Given the description of an element on the screen output the (x, y) to click on. 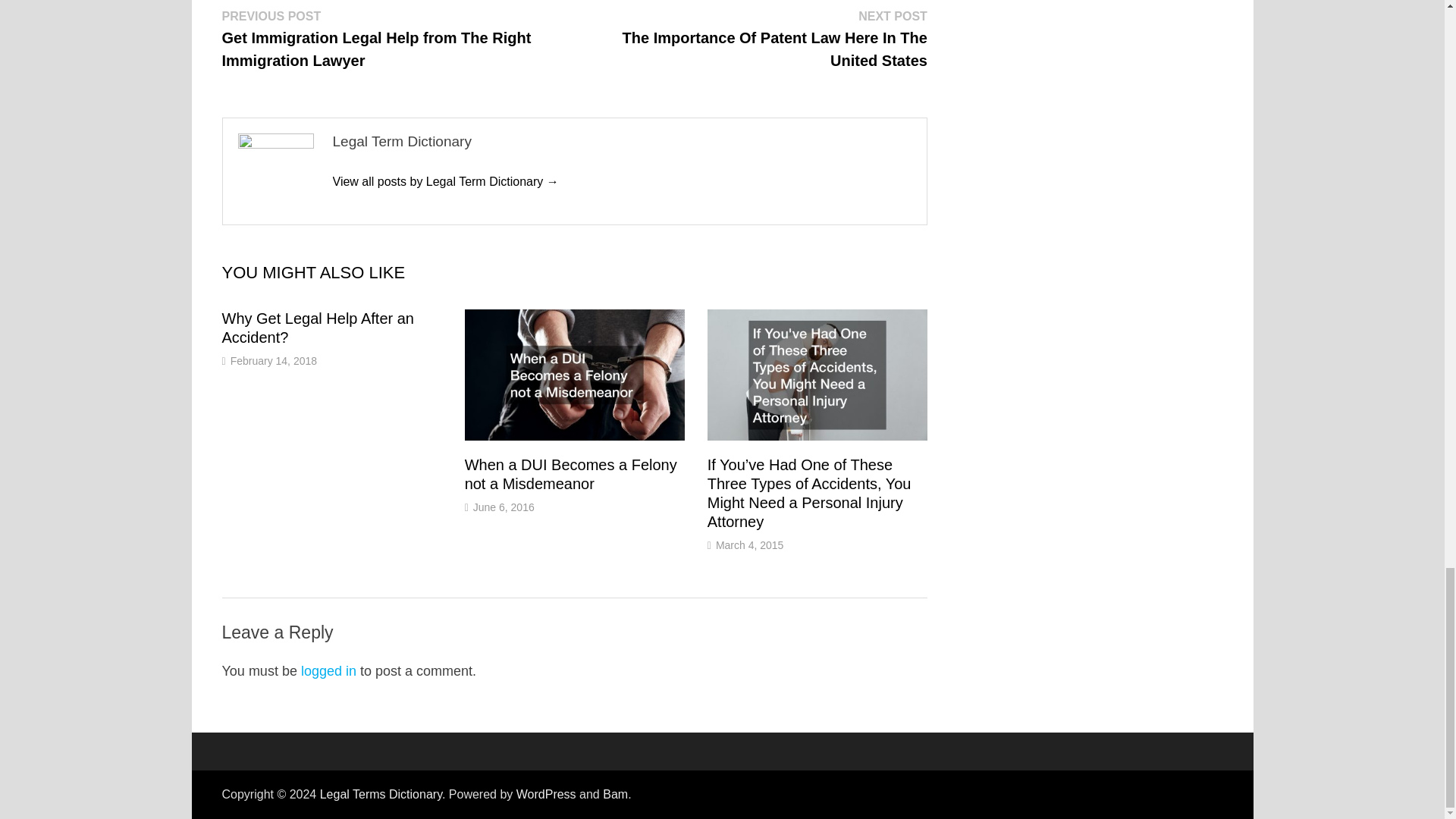
WordPress (546, 793)
logged in (328, 670)
June 6, 2016 (503, 507)
March 4, 2015 (750, 544)
February 14, 2018 (273, 360)
When a DUI Becomes a Felony not a Misdemeanor (570, 474)
Legal Term Dictionary (444, 181)
Legal Terms Dictionary (381, 793)
Legal Terms Dictionary (381, 793)
Why Get Legal Help After an Accident? (317, 327)
Why Get Legal Help After an Accident? (317, 327)
Bam (614, 793)
When a DUI Becomes a Felony not a Misdemeanor (570, 474)
